Given the description of an element on the screen output the (x, y) to click on. 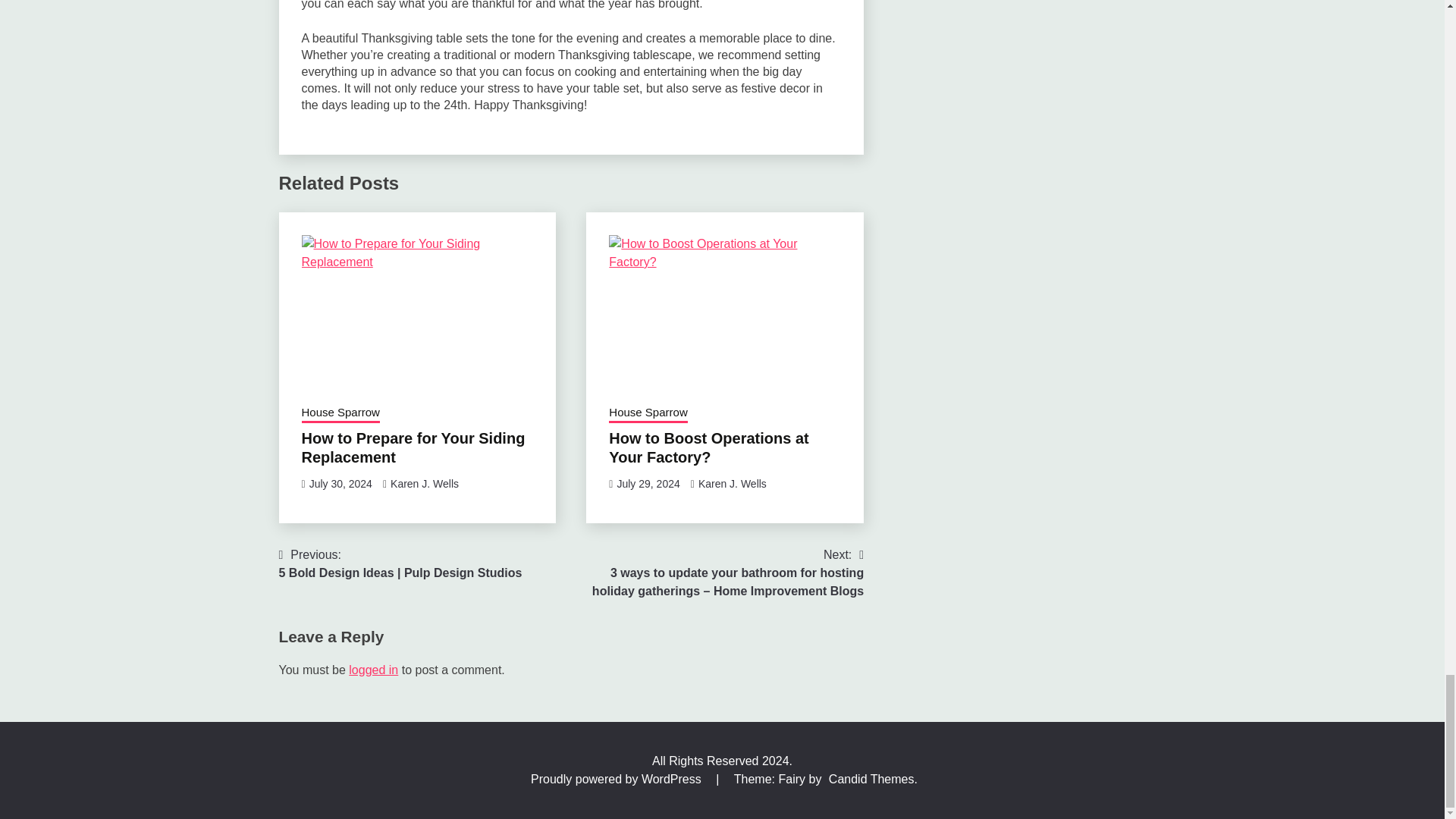
Karen J. Wells (732, 483)
How to Prepare for Your Siding Replacement (417, 311)
House Sparrow (647, 414)
How to Boost Operations at Your Factory? (724, 311)
How to Boost Operations at Your Factory? (708, 447)
How to Prepare for Your Siding Replacement (413, 447)
July 30, 2024 (340, 483)
July 29, 2024 (647, 483)
Karen J. Wells (424, 483)
House Sparrow (340, 414)
